Given the description of an element on the screen output the (x, y) to click on. 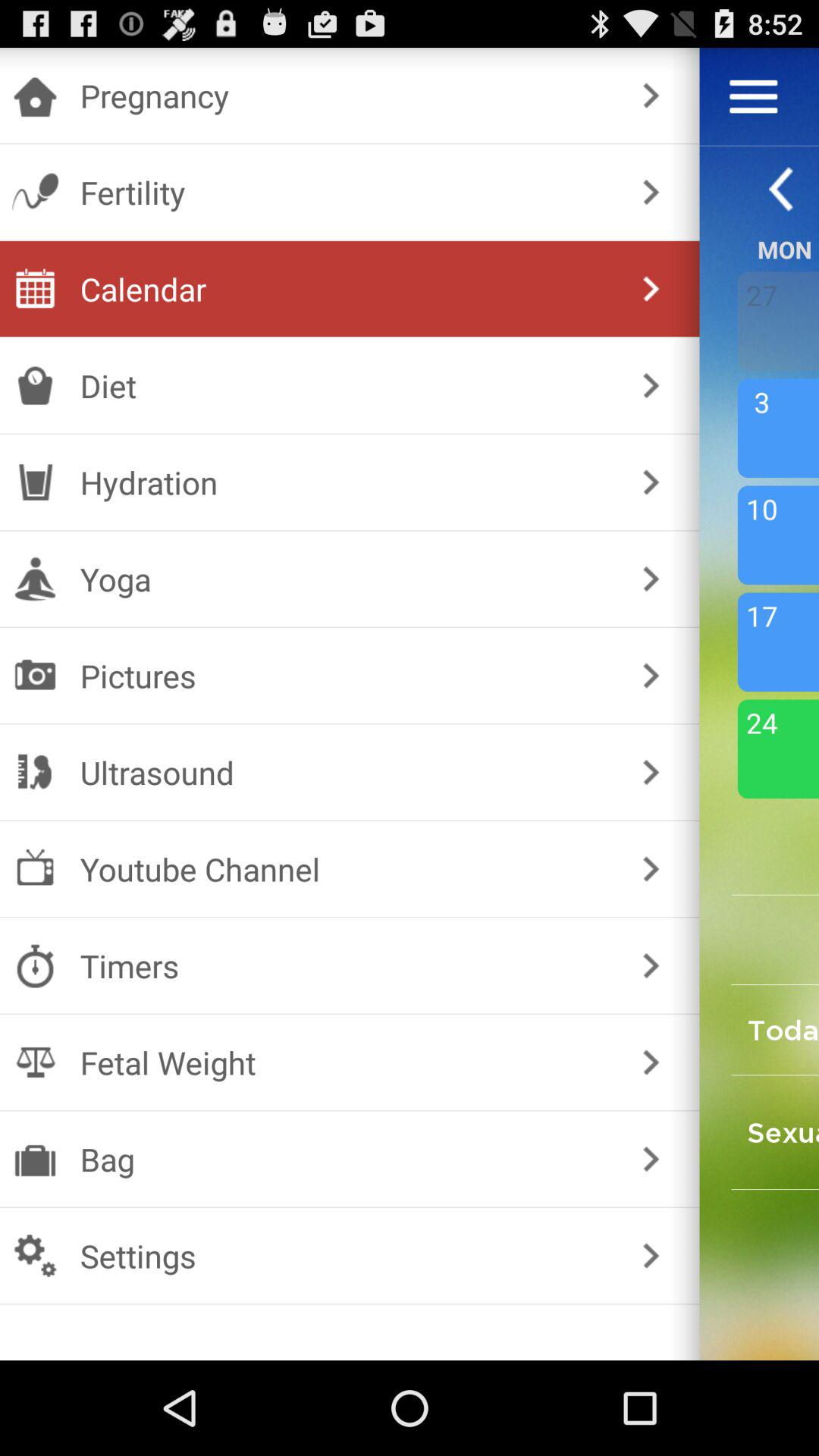
tap the icon below the yoga icon (346, 675)
